Given the description of an element on the screen output the (x, y) to click on. 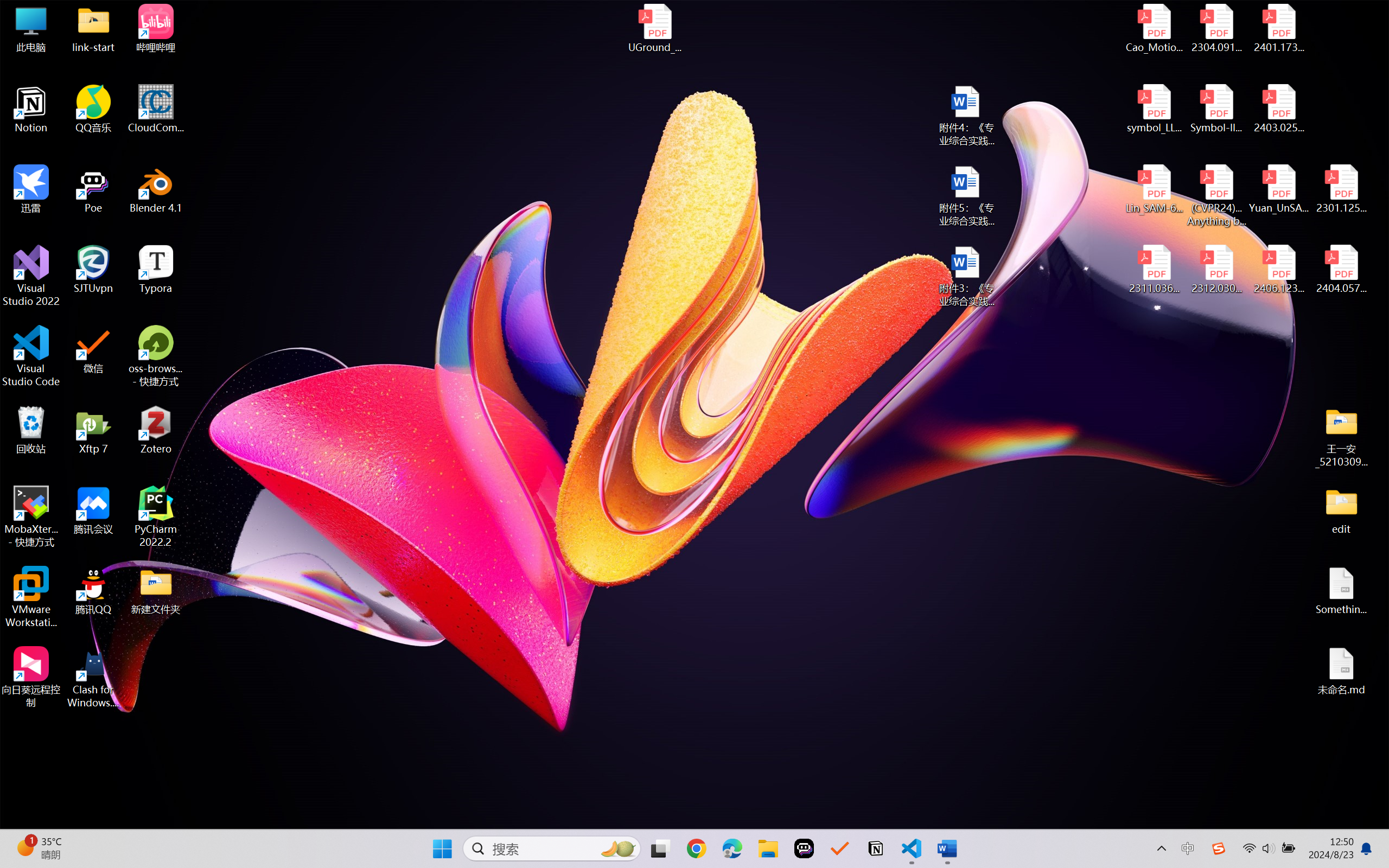
CloudCompare (156, 109)
Symbol-llm-v2.pdf (1216, 109)
UGround_paper.pdf (654, 28)
2406.12373v2.pdf (1278, 269)
2312.03032v2.pdf (1216, 269)
